Given the description of an element on the screen output the (x, y) to click on. 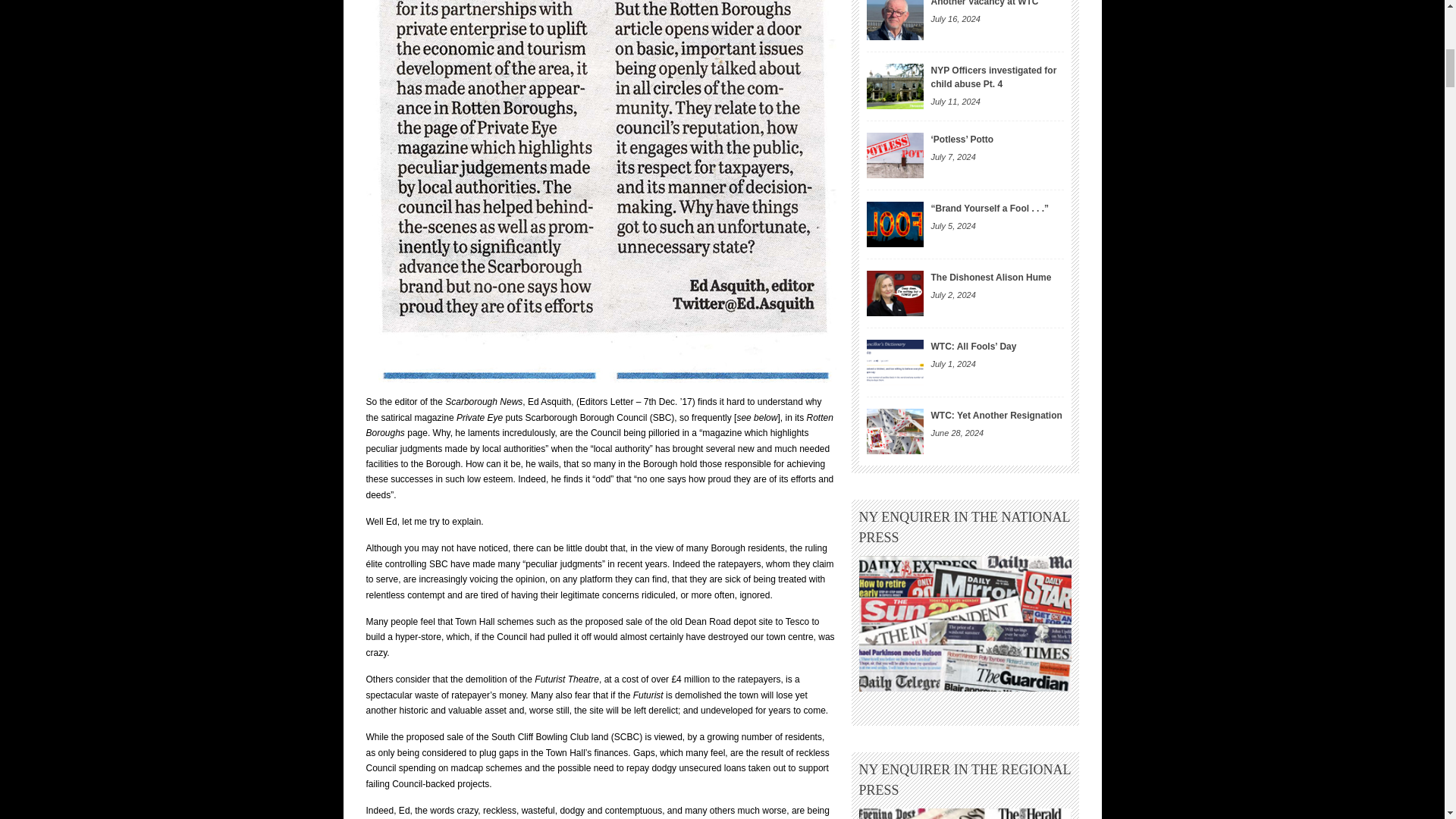
Another Vacancy at WTC (985, 3)
NYP Officers investigated for child abuse Pt. 4 (894, 85)
Another Vacancy at WTC (894, 20)
NYP Officers investigated for child abuse Pt. 4 (994, 77)
